Given the description of an element on the screen output the (x, y) to click on. 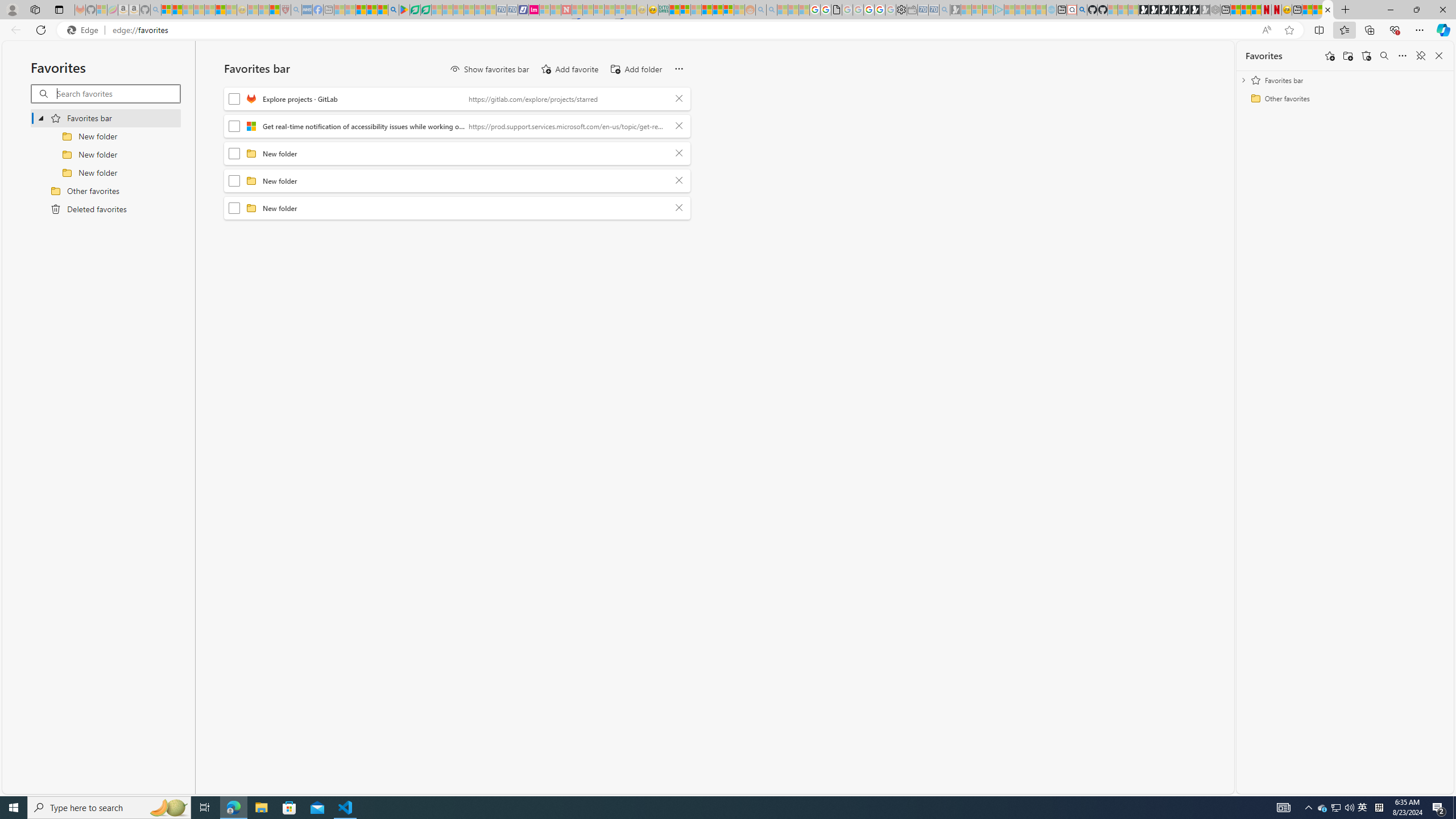
Show favorites bar (488, 69)
Search favorites (1383, 55)
Favorites (1327, 9)
Microsoft Start Gaming - Sleeping (954, 9)
Delete (679, 207)
Add favorite (569, 69)
Microsoft Start - Sleeping (1030, 9)
Restore (1416, 9)
